Given the description of an element on the screen output the (x, y) to click on. 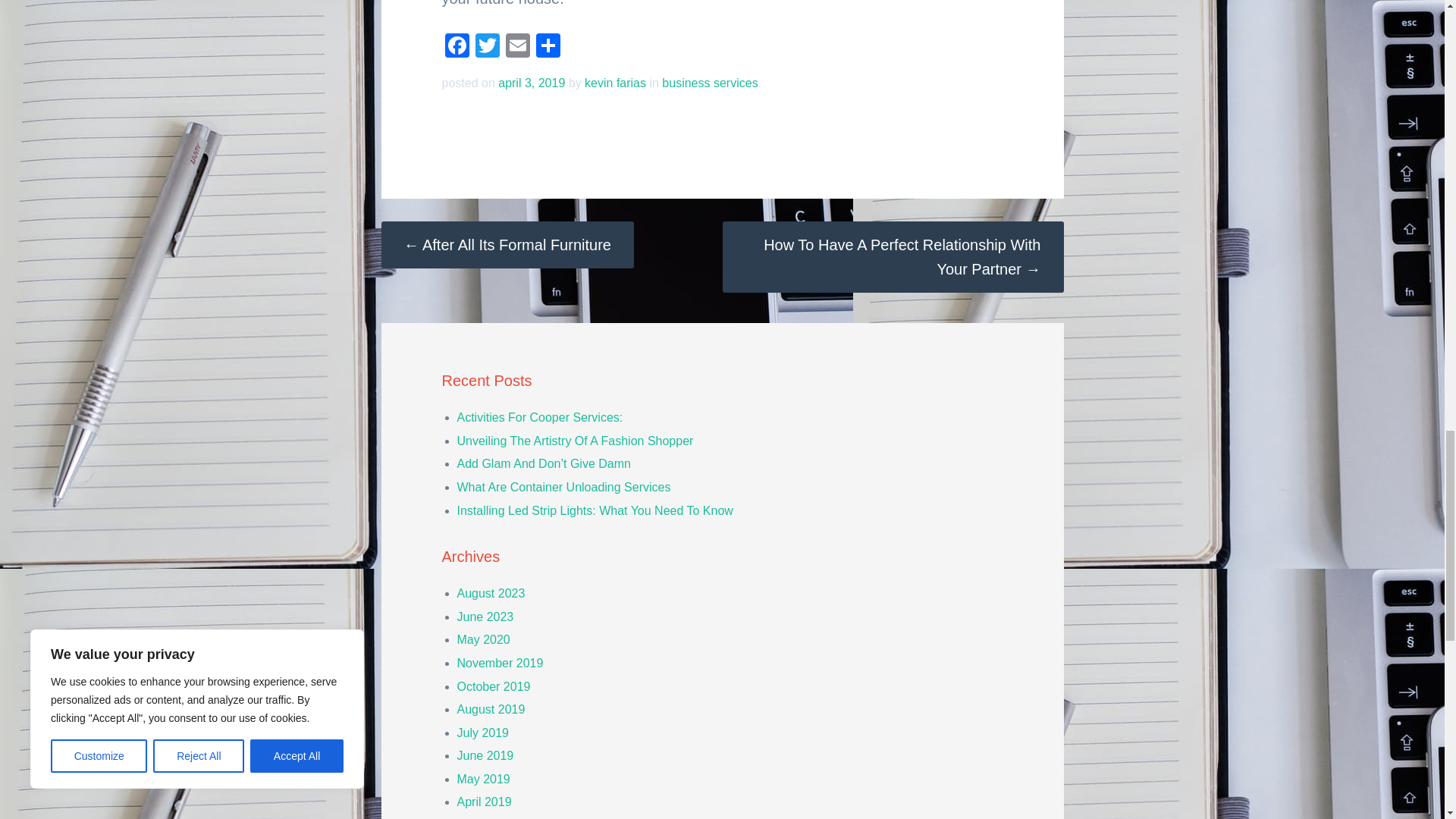
May 2020 (483, 639)
June 2023 (485, 616)
What Are Container Unloading Services (563, 486)
August 2023 (490, 593)
Twitter (486, 47)
business services (709, 82)
Unveiling The Artistry Of A Fashion Shopper (575, 440)
View all posts by Kevin Farias (615, 82)
kevin farias (615, 82)
November 2019 (500, 662)
april 3, 2019 (530, 82)
Facebook (456, 47)
7:36 pm (530, 82)
Activities For Cooper Services: (540, 417)
Twitter (486, 47)
